Given the description of an element on the screen output the (x, y) to click on. 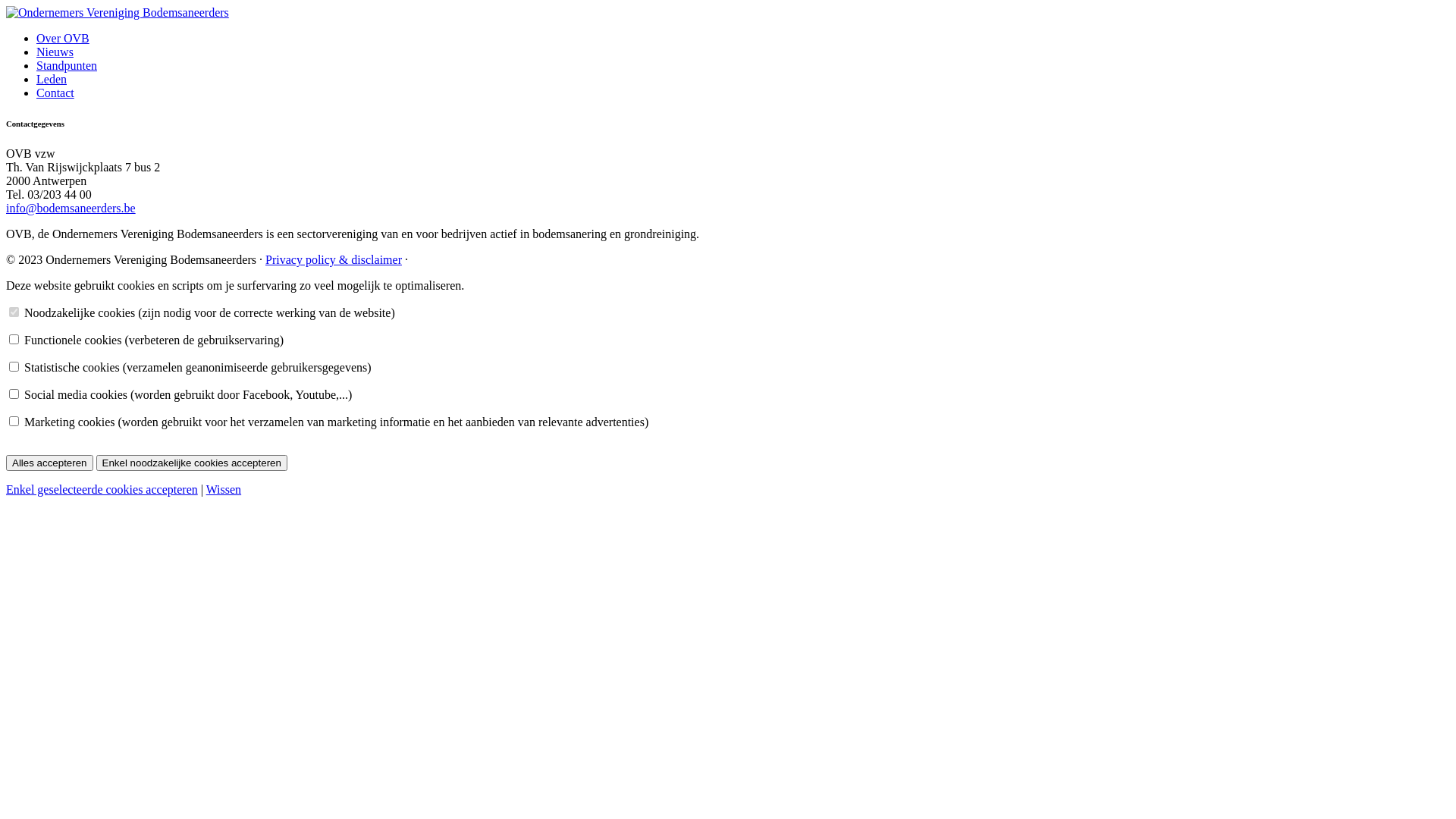
Leden Element type: text (51, 78)
Nieuws Element type: text (54, 51)
Alles accepteren Element type: text (49, 462)
Over OVB Element type: text (62, 37)
info@bodemsaneerders.be Element type: text (70, 207)
Enkel geselecteerde cookies accepteren Element type: text (101, 489)
Standpunten Element type: text (66, 65)
Privacy policy & disclaimer Element type: text (333, 259)
Wissen Element type: text (223, 489)
Enkel noodzakelijke cookies accepteren Element type: text (191, 462)
Contact Element type: text (55, 92)
